Given the description of an element on the screen output the (x, y) to click on. 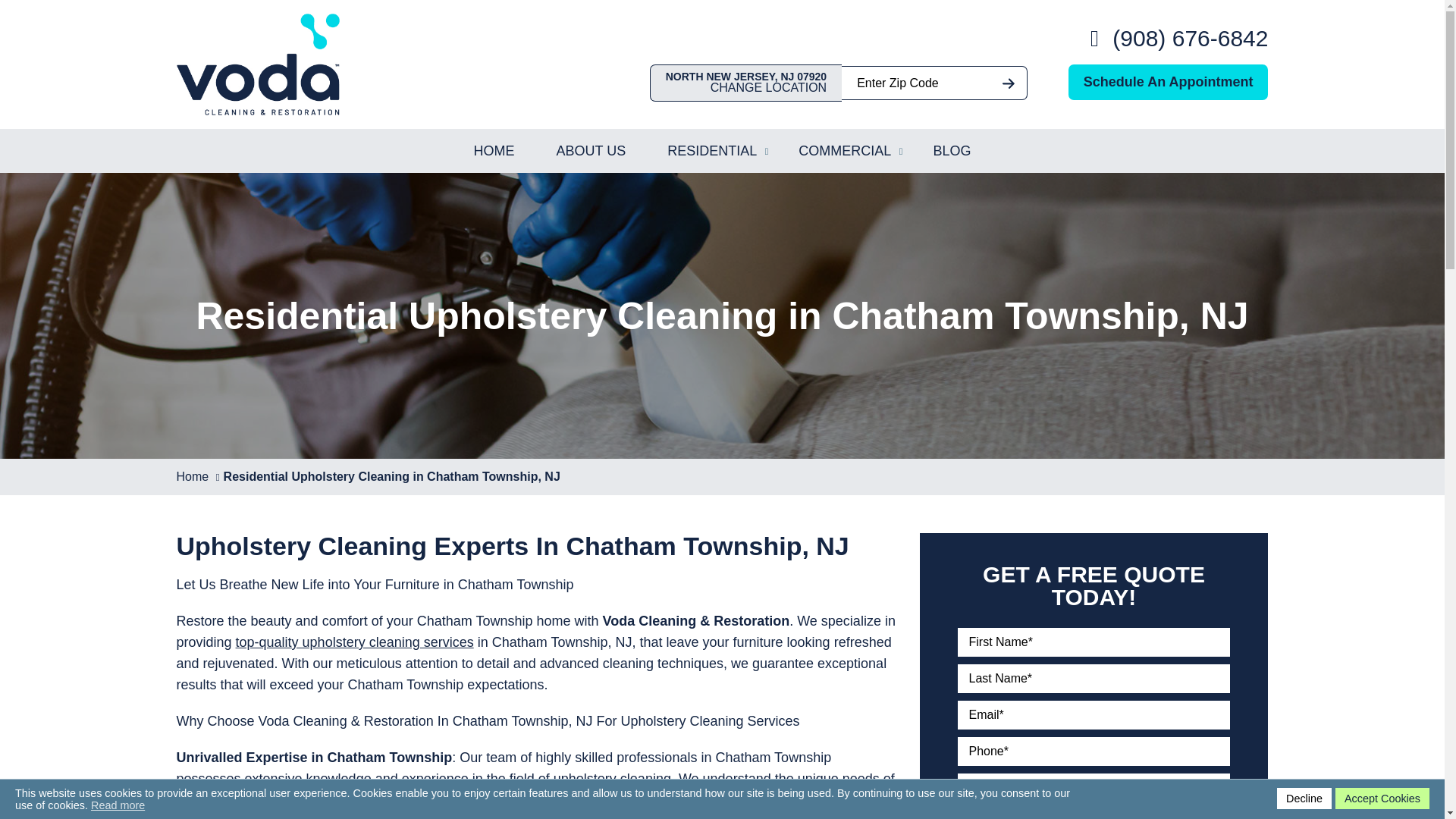
ABOUT US (591, 150)
BLOG (952, 150)
HOME (494, 150)
Decline (1304, 798)
COMMERCIAL (844, 150)
RESIDENTIAL (711, 150)
Accept Cookies (1382, 798)
top-quality upholstery cleaning services (354, 642)
Read more (117, 805)
Schedule An Appointment (1168, 81)
Home (192, 476)
